Given the description of an element on the screen output the (x, y) to click on. 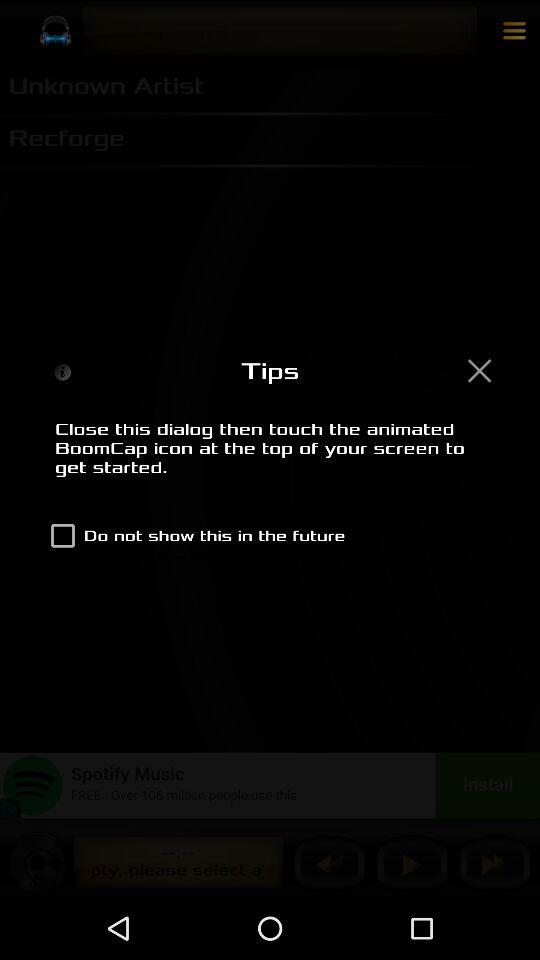
flip until the close this dialog item (269, 459)
